Given the description of an element on the screen output the (x, y) to click on. 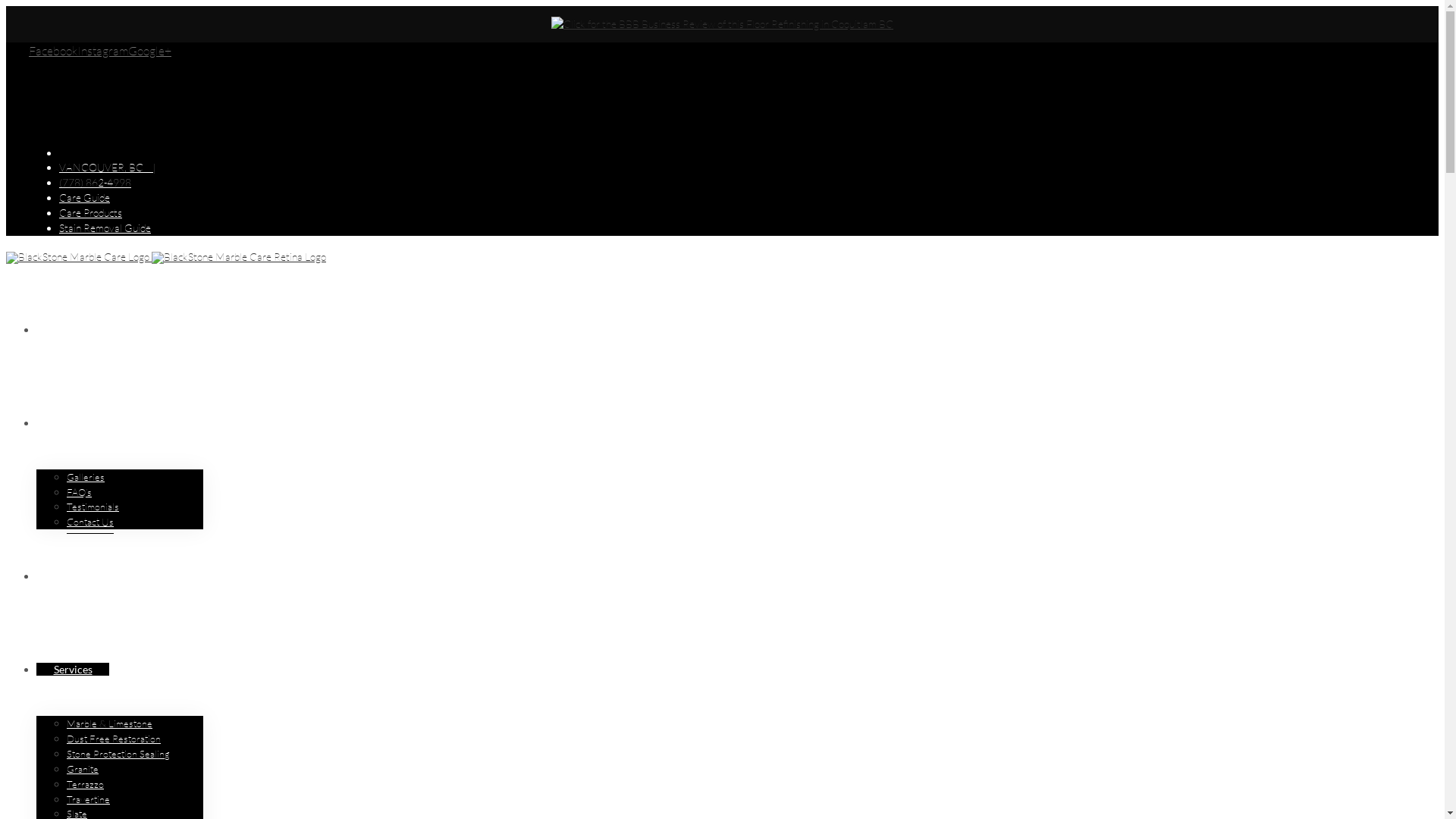
(778) 862-4998 Element type: text (95, 181)
Stone Protection Sealing Element type: text (117, 753)
Care Guide Element type: text (84, 197)
Home Element type: text (67, 329)
Marble & Limestone Element type: text (109, 723)
Contact Us Element type: text (89, 521)
Care Products Element type: text (90, 212)
Granite Element type: text (82, 769)
Stain Removal Guide Element type: text (104, 227)
Testimonials Element type: text (92, 506)
Travertine Element type: text (87, 799)
Services Element type: text (72, 668)
MORE AntiEtch Element type: text (90, 575)
Dust Free Restoration Element type: text (113, 738)
VANCOUVER, BC    | Element type: text (107, 166)
Google+ Element type: text (149, 50)
About Us Element type: text (75, 422)
Facebook Element type: text (52, 50)
Galleries Element type: text (85, 477)
Terrazzo Element type: text (84, 784)
Instagram Element type: text (102, 50)
